Given the description of an element on the screen output the (x, y) to click on. 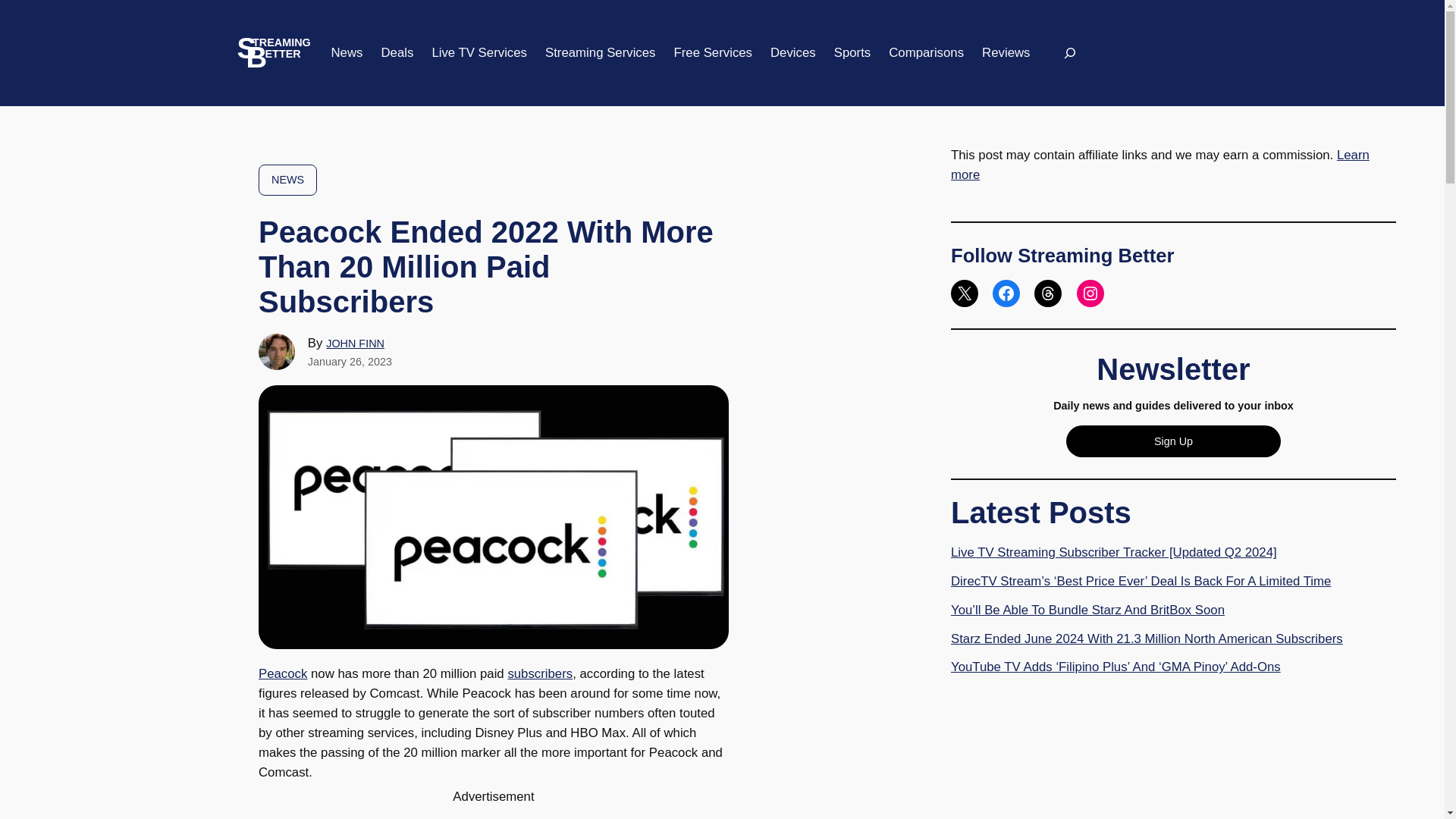
News (346, 53)
NEWS (288, 179)
Comparisons (925, 53)
subscribers (539, 673)
Streaming Services (600, 53)
Live TV Services (478, 53)
Deals (396, 53)
Peacock (283, 673)
Free Services (712, 53)
Devices (792, 53)
